Given the description of an element on the screen output the (x, y) to click on. 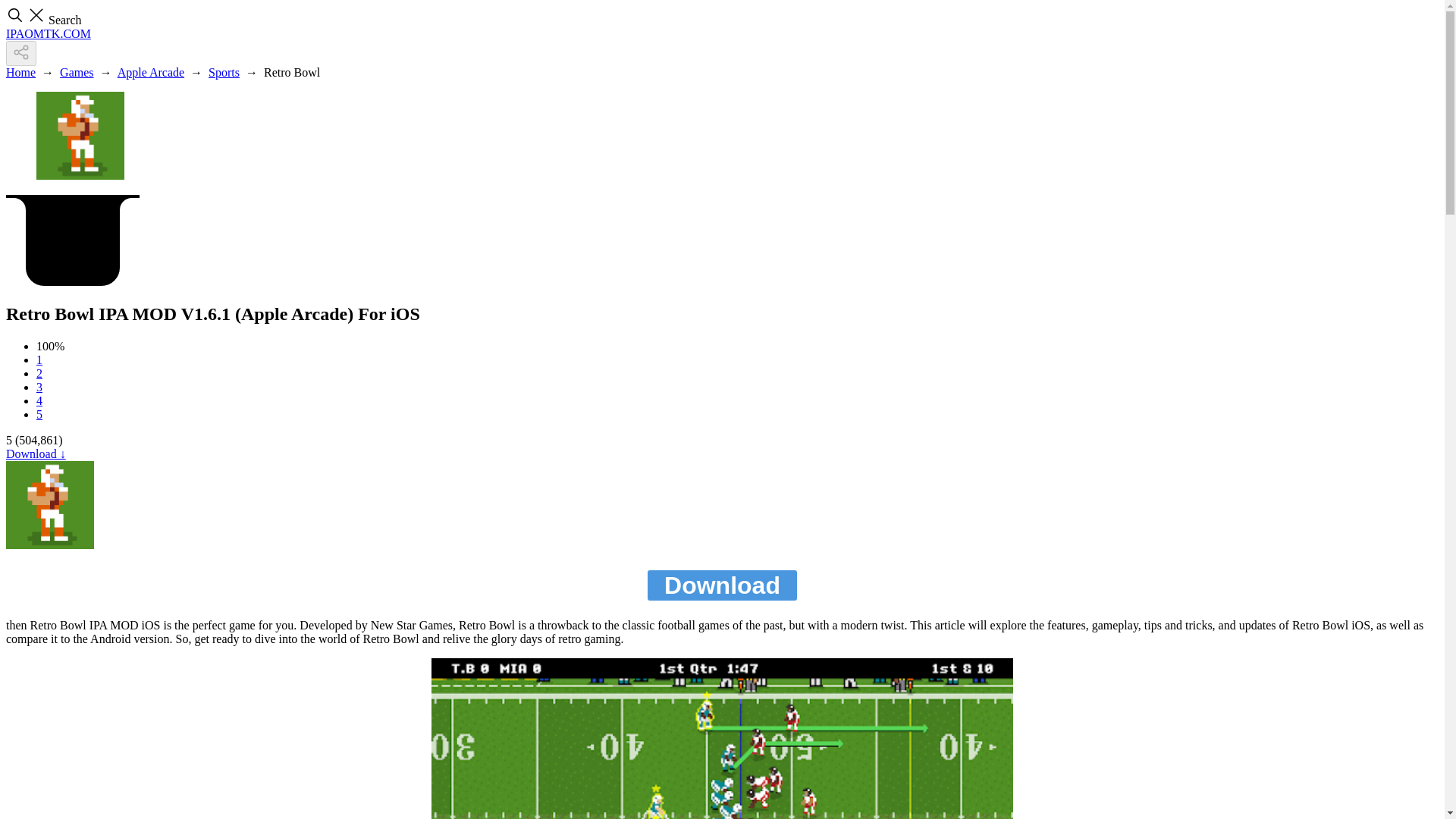
IPAOMTK.COM (47, 33)
